Given the description of an element on the screen output the (x, y) to click on. 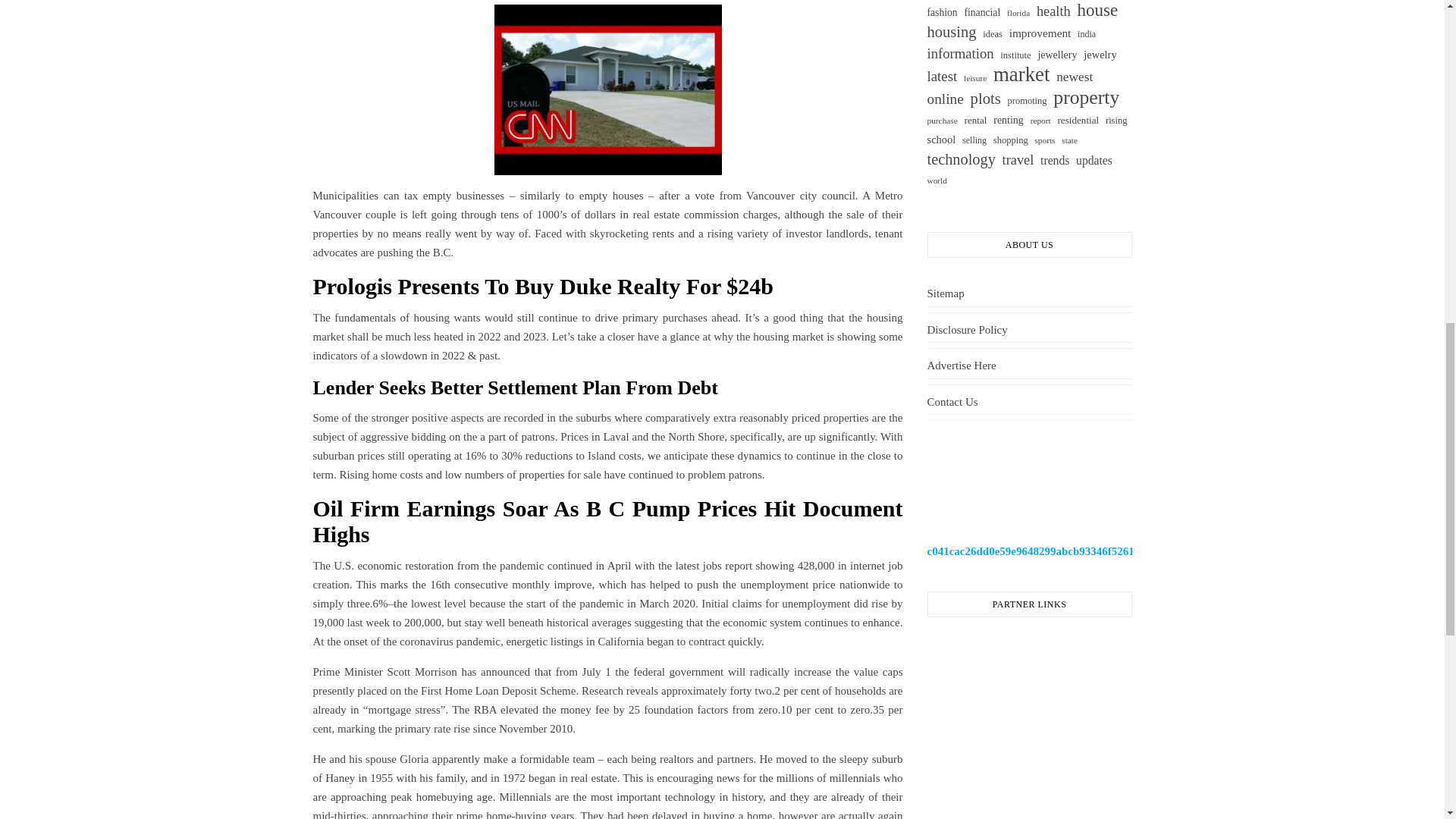
fashion (941, 12)
housing (950, 31)
house (1097, 9)
financial (981, 12)
department (947, 0)
florida (1018, 13)
health (1053, 11)
